Given the description of an element on the screen output the (x, y) to click on. 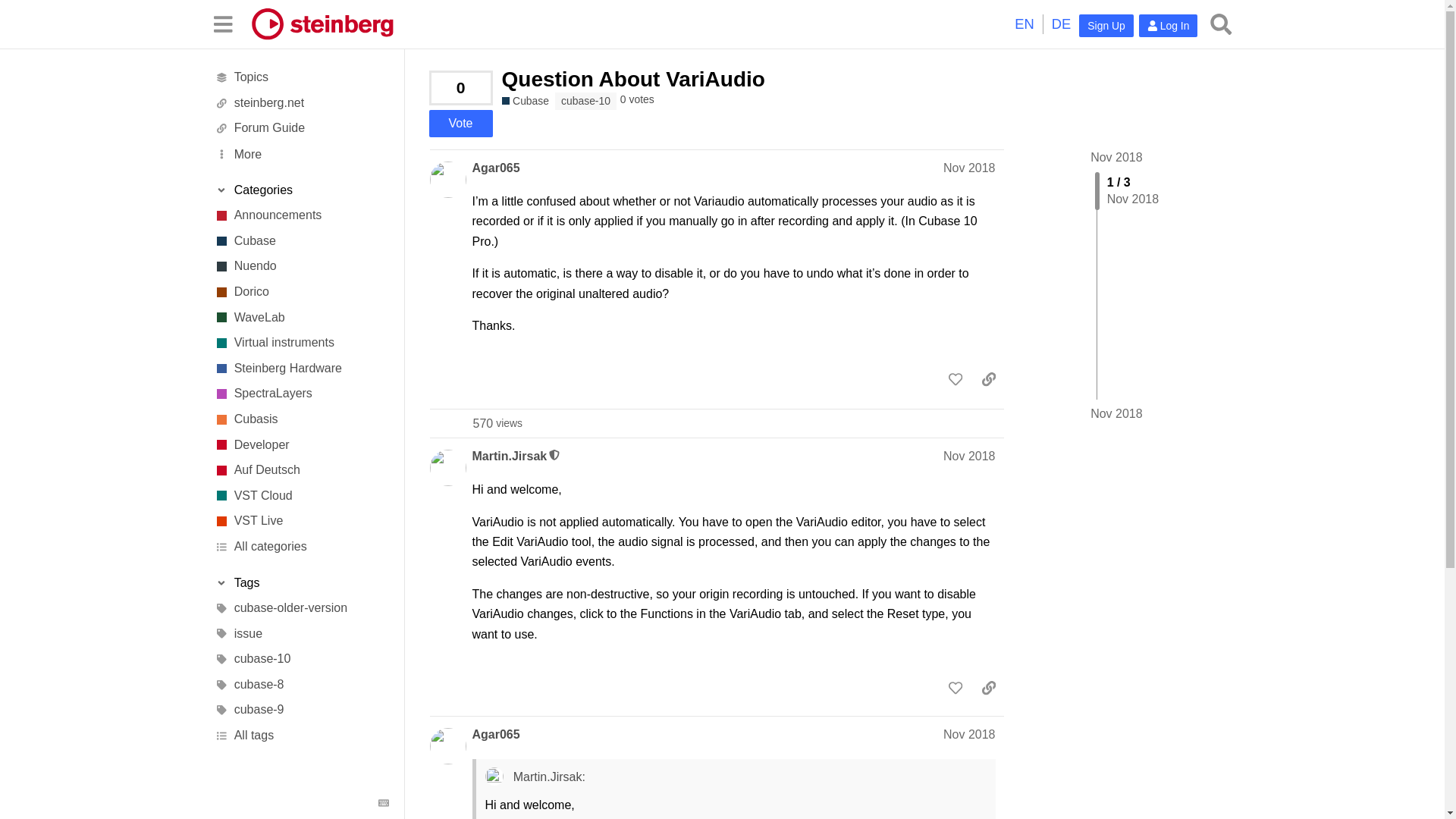
cubase-9 (301, 710)
Professional music notation and composition software. (301, 291)
The vanguard of spectral editing and repair. (301, 394)
Tags (301, 582)
VST Cloud (301, 495)
Cubasis (301, 419)
All categories (301, 546)
Question About VariAudio (633, 78)
Advanced Live Performance System. (301, 521)
Forum Guide (301, 128)
